Given the description of an element on the screen output the (x, y) to click on. 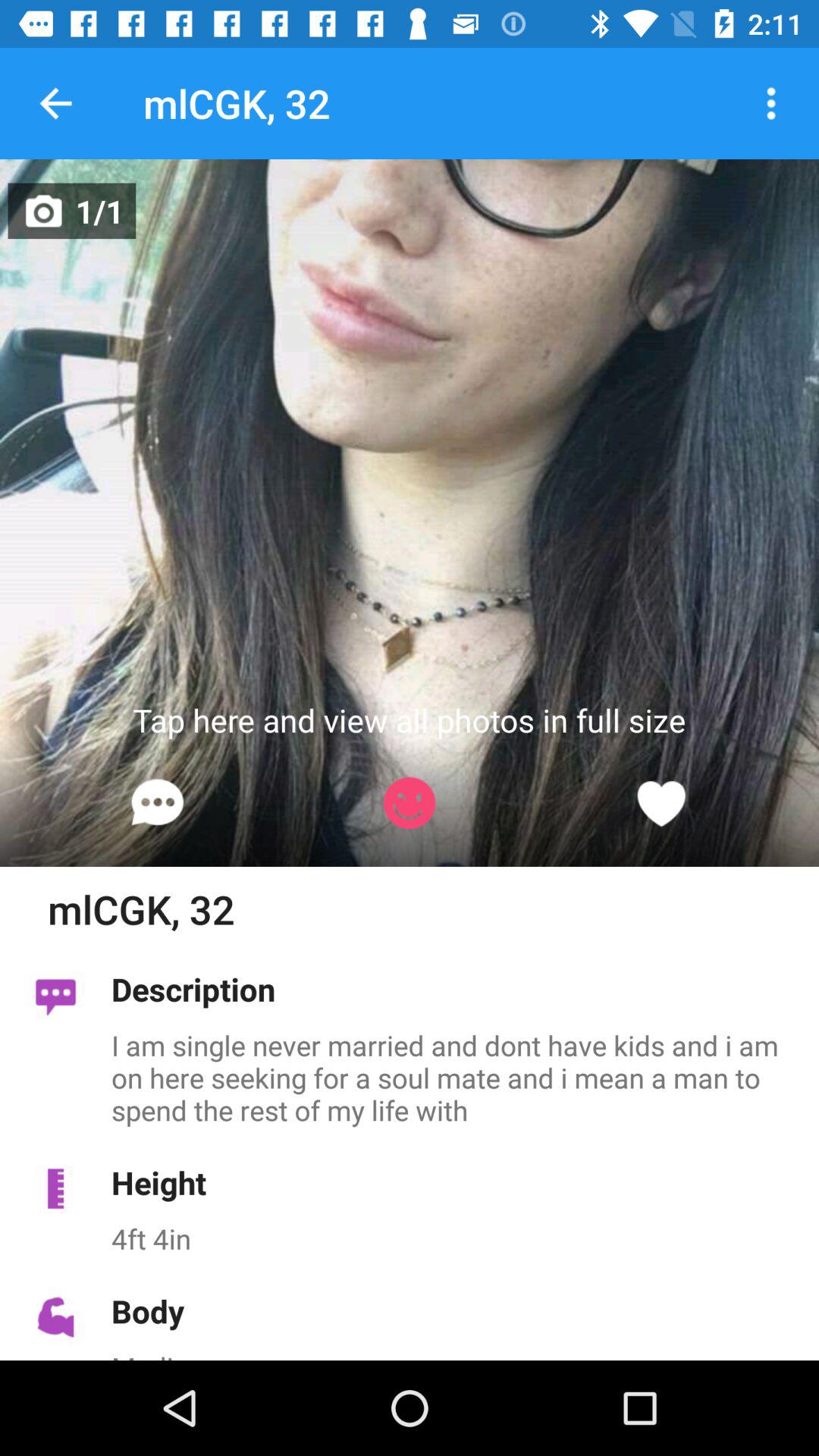
open the icon above height (457, 1077)
